Given the description of an element on the screen output the (x, y) to click on. 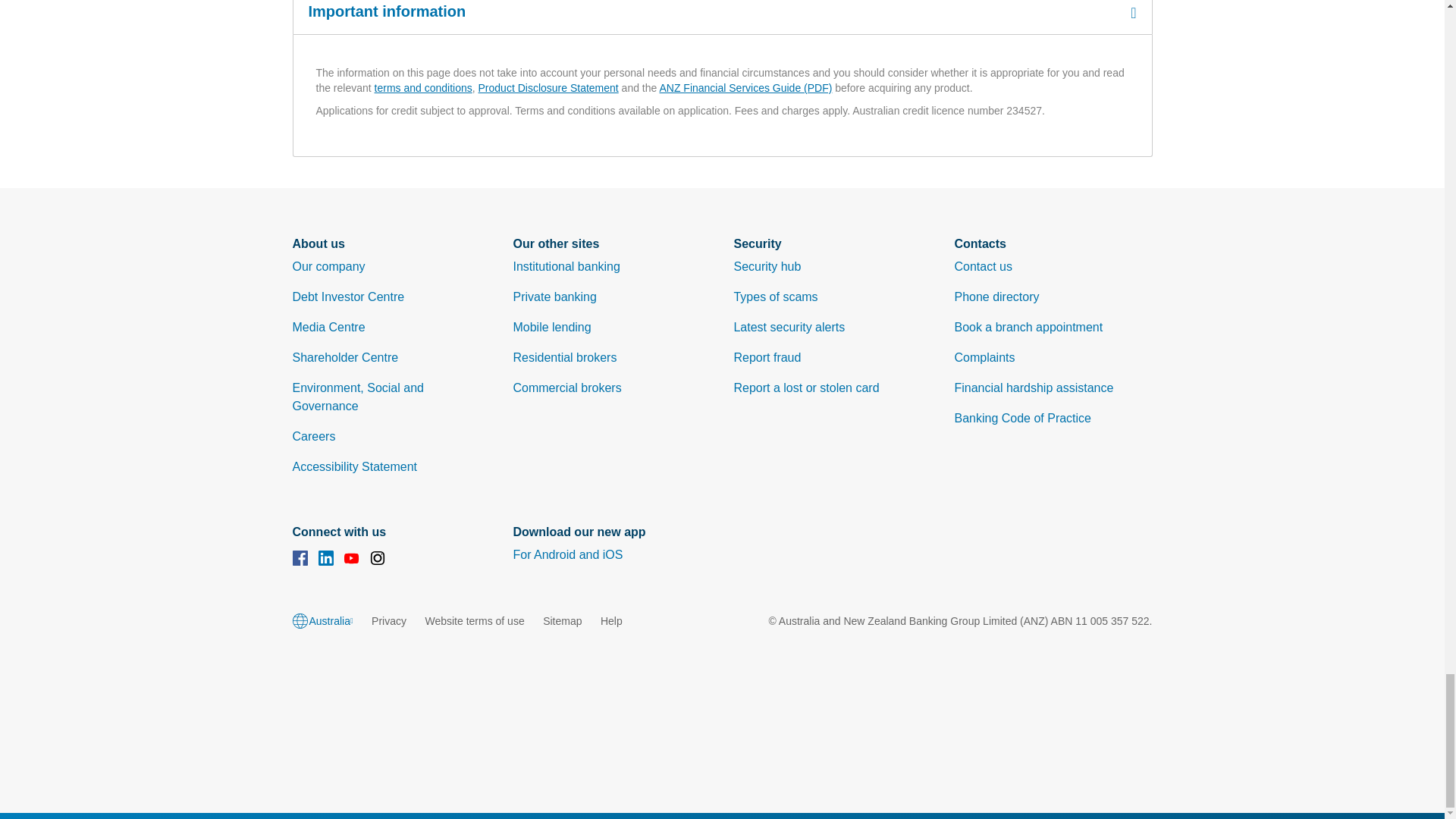
Youtube (351, 560)
LinkedIn (325, 560)
Facebook (299, 560)
Instagram (377, 560)
